Given the description of an element on the screen output the (x, y) to click on. 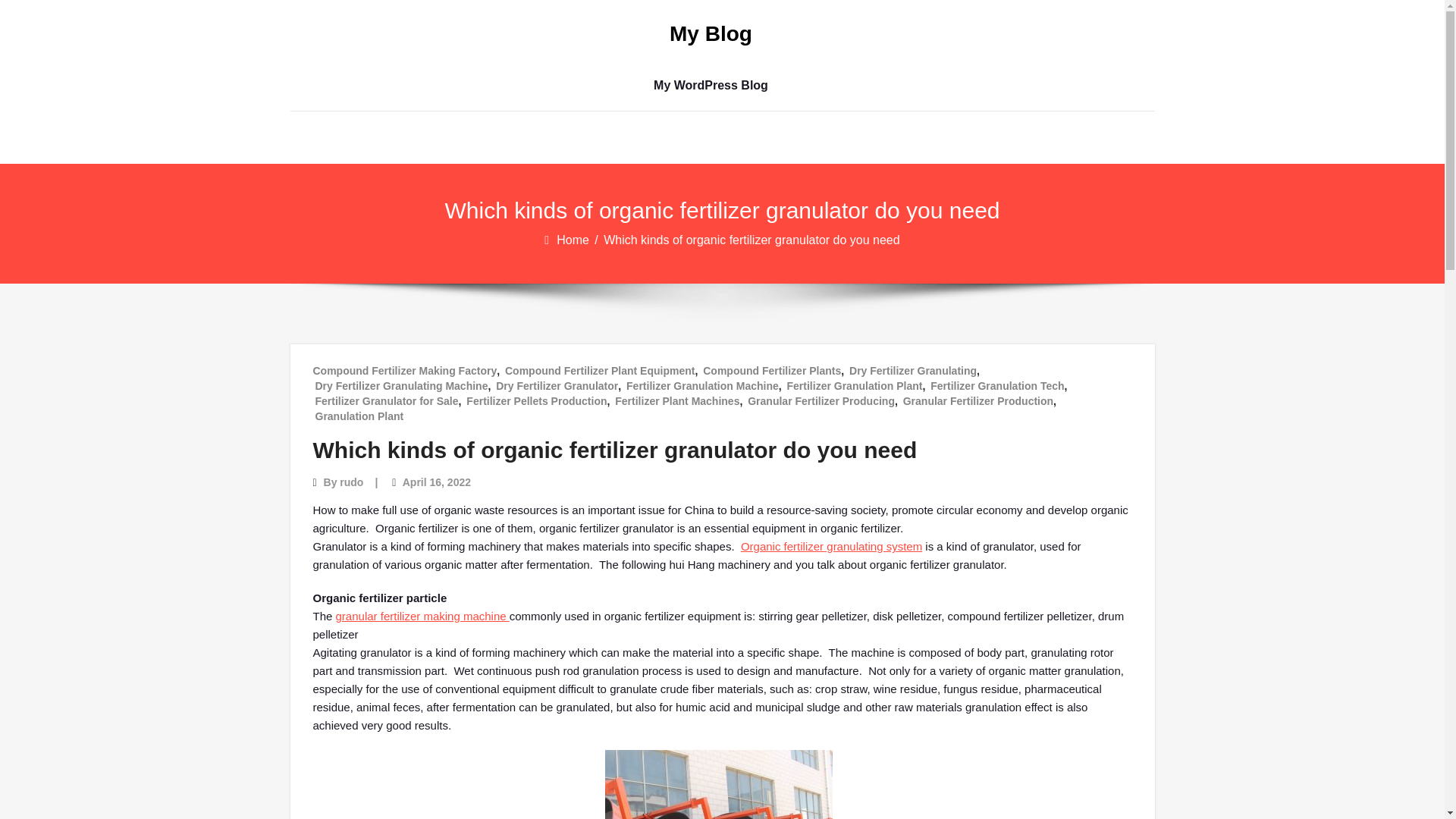
Fertilizer Granulation Machine (702, 385)
Granular Fertilizer Producing (821, 400)
Granulation Plant (359, 416)
Home (573, 239)
Dry Fertilizer Granulator (556, 385)
Fertilizer Plant Machines (676, 400)
April 16, 2022 (436, 481)
My Blog (710, 34)
Dry Fertilizer Granulating Machine (401, 385)
Granular Fertilizer Production (977, 400)
Dry Fertilizer Granulating (912, 370)
Compound Fertilizer Plant Equipment (599, 370)
Fertilizer Granulator for Sale (386, 400)
Fertilizer Pellets Production (536, 400)
Fertilizer Granulation Tech (997, 385)
